Given the description of an element on the screen output the (x, y) to click on. 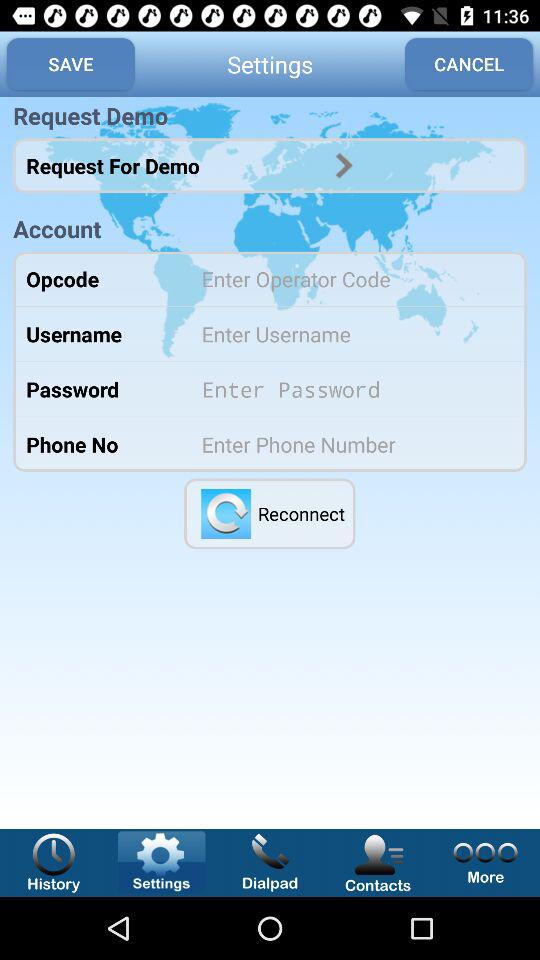
press request for demo (344, 165)
